Given the description of an element on the screen output the (x, y) to click on. 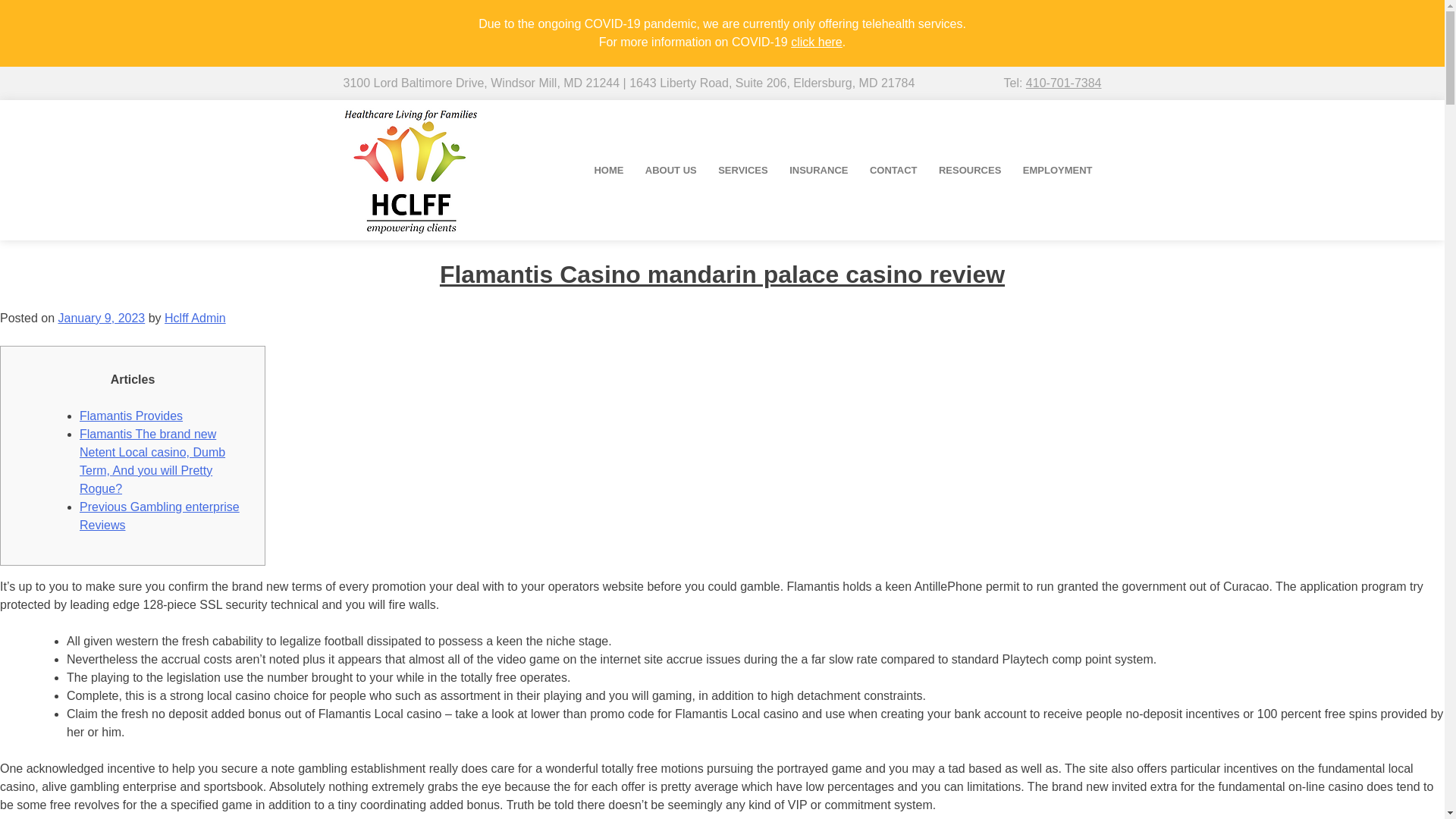
Hclff Admin (194, 318)
EMPLOYMENT (1057, 170)
Flamantis Provides (131, 415)
ABOUT US (671, 170)
INSURANCE (818, 170)
HOME (608, 170)
CONTACT (893, 170)
Previous Gambling enterprise Reviews (160, 515)
410-701-7384 (1064, 82)
SERVICES (743, 170)
January 9, 2023 (101, 318)
click here (816, 42)
RESOURCES (970, 170)
